Given the description of an element on the screen output the (x, y) to click on. 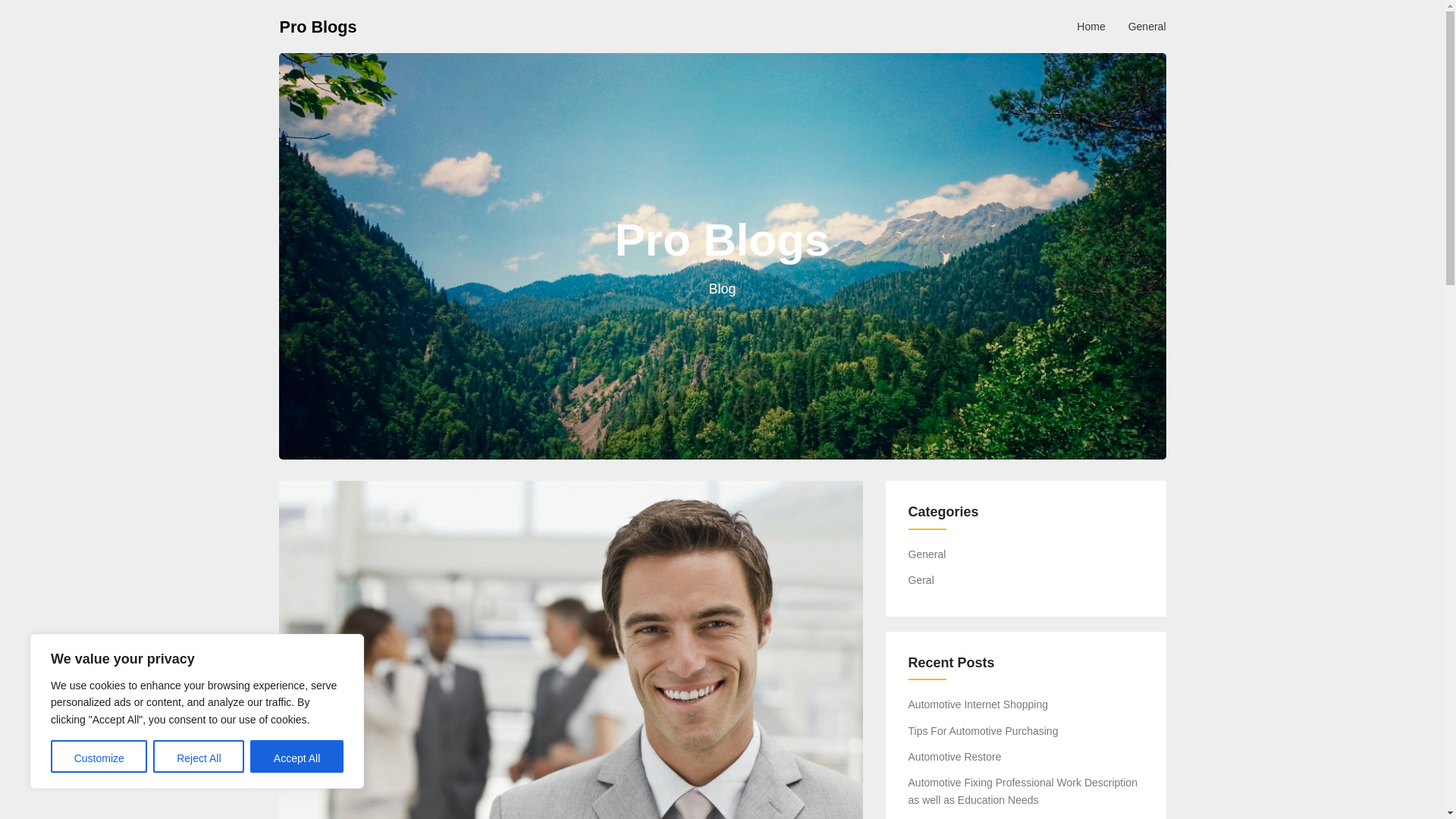
Home (1090, 26)
General (927, 553)
Automotive Restore (954, 756)
Accept All (296, 756)
Customize (98, 756)
General (1146, 26)
Tips For Automotive Purchasing (983, 730)
Pro Blogs (317, 26)
Automotive Internet Shopping (978, 704)
Reject All (198, 756)
Geral (921, 580)
